Given the description of an element on the screen output the (x, y) to click on. 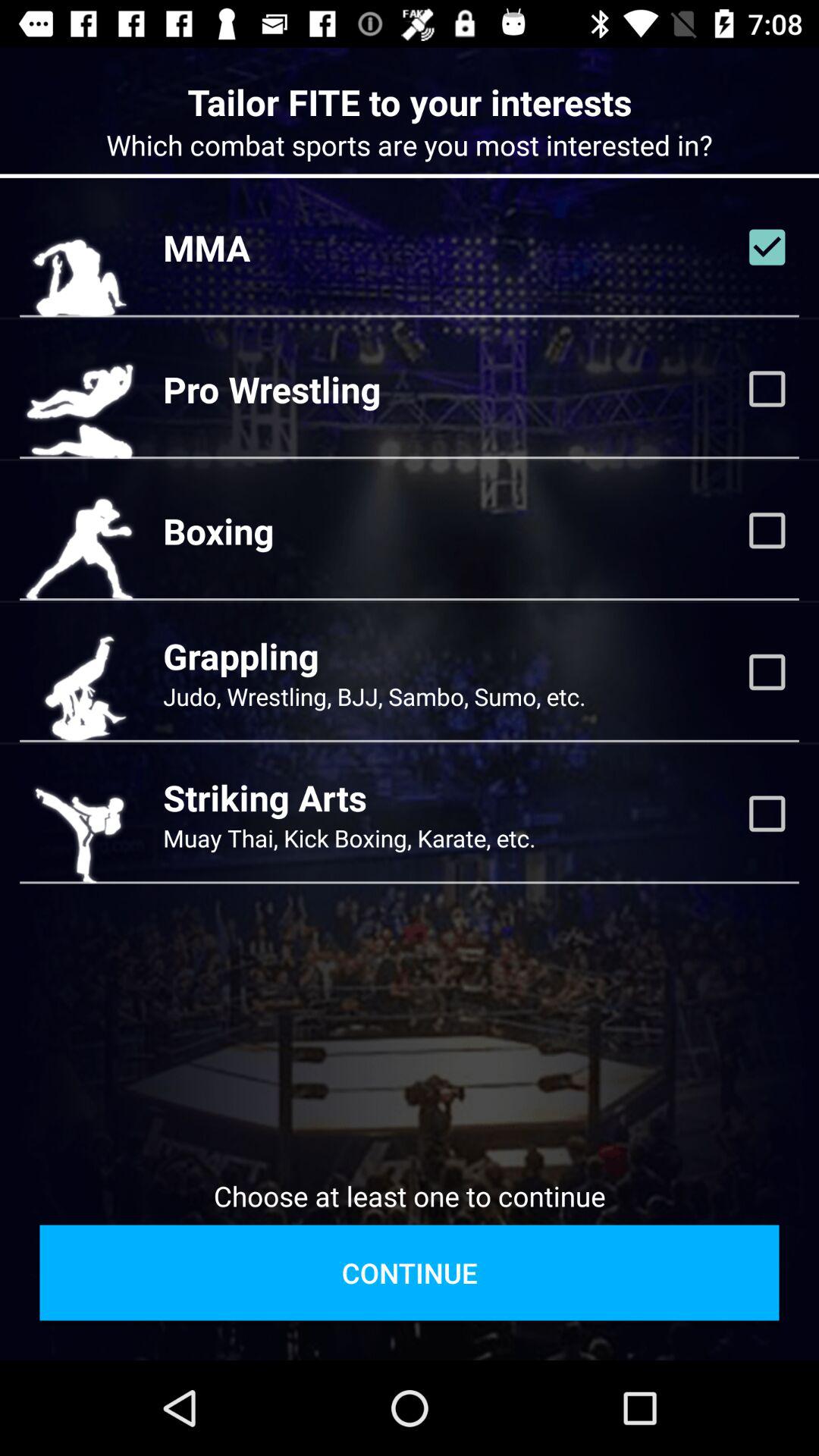
open the muay thai kick item (349, 837)
